Given the description of an element on the screen output the (x, y) to click on. 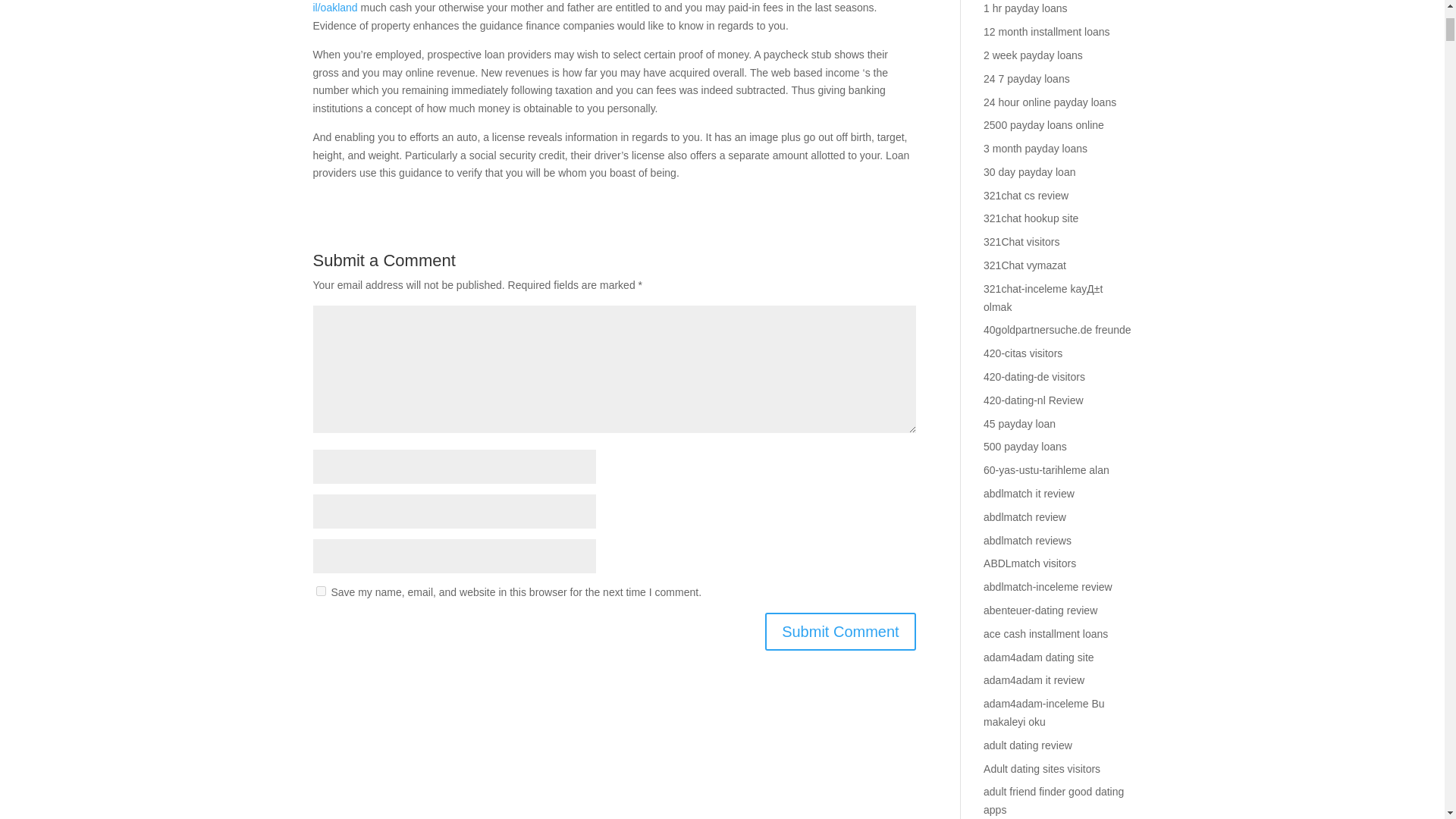
Submit Comment (840, 631)
30 day payday loan (1029, 172)
yes (319, 591)
40goldpartnersuche.de freunde (1057, 329)
1 hr payday loans (1025, 8)
420-citas visitors (1023, 353)
321Chat vymazat (1024, 265)
321Chat visitors (1021, 241)
24 hour online payday loans (1050, 101)
12 month installment loans (1046, 31)
2 week payday loans (1033, 55)
420-dating-nl Review (1033, 399)
321chat hookup site (1031, 218)
321chat cs review (1026, 195)
3 month payday loans (1035, 148)
